Given the description of an element on the screen output the (x, y) to click on. 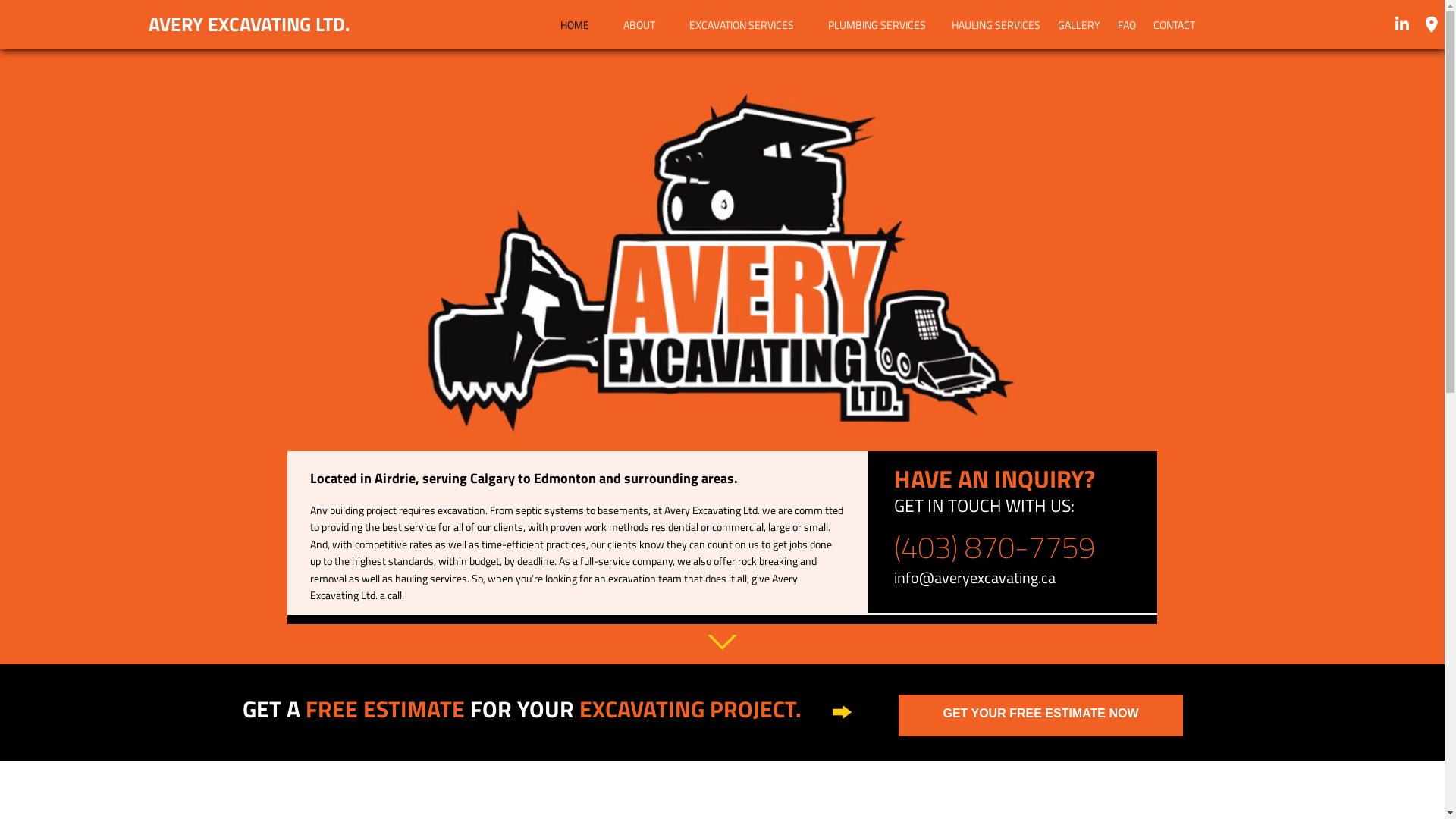
EXCAVATION SERVICES Element type: text (741, 24)
GALLERY Element type: text (1078, 24)
HAULING SERVICES Element type: text (995, 24)
GET YOUR FREE ESTIMATE NOW Element type: text (1040, 715)
HOME Element type: text (574, 24)
Google Maps Element type: hover (1431, 25)
FAQ Element type: text (1126, 24)
ABOUT Element type: text (638, 24)
CONTACT Element type: text (1174, 24)
AVERY EXCAVATING LTD. Element type: text (180, 24)
PLUMBING SERVICES Element type: text (876, 24)
